Given the description of an element on the screen output the (x, y) to click on. 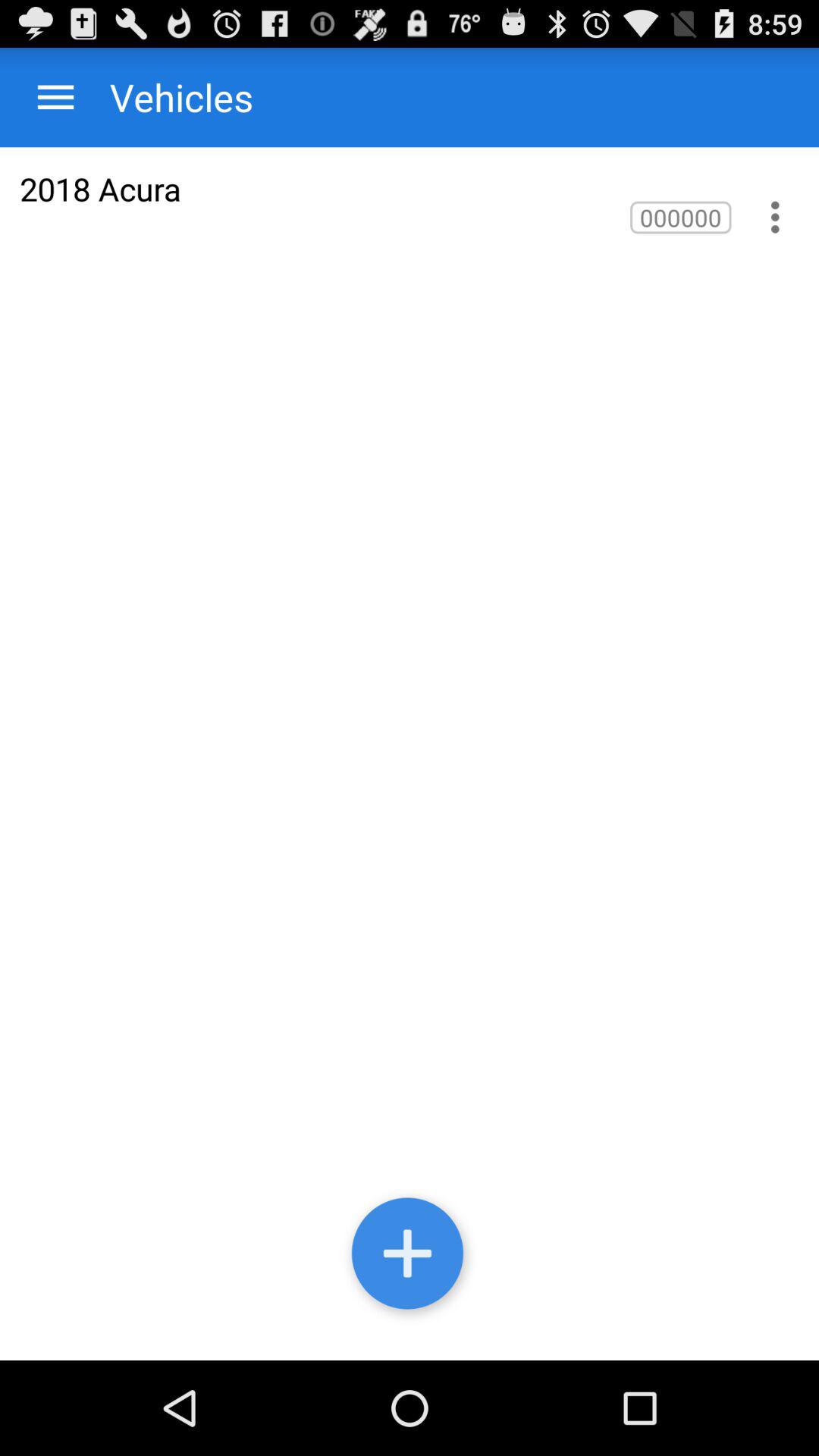
add vehicle to list (409, 1256)
